Given the description of an element on the screen output the (x, y) to click on. 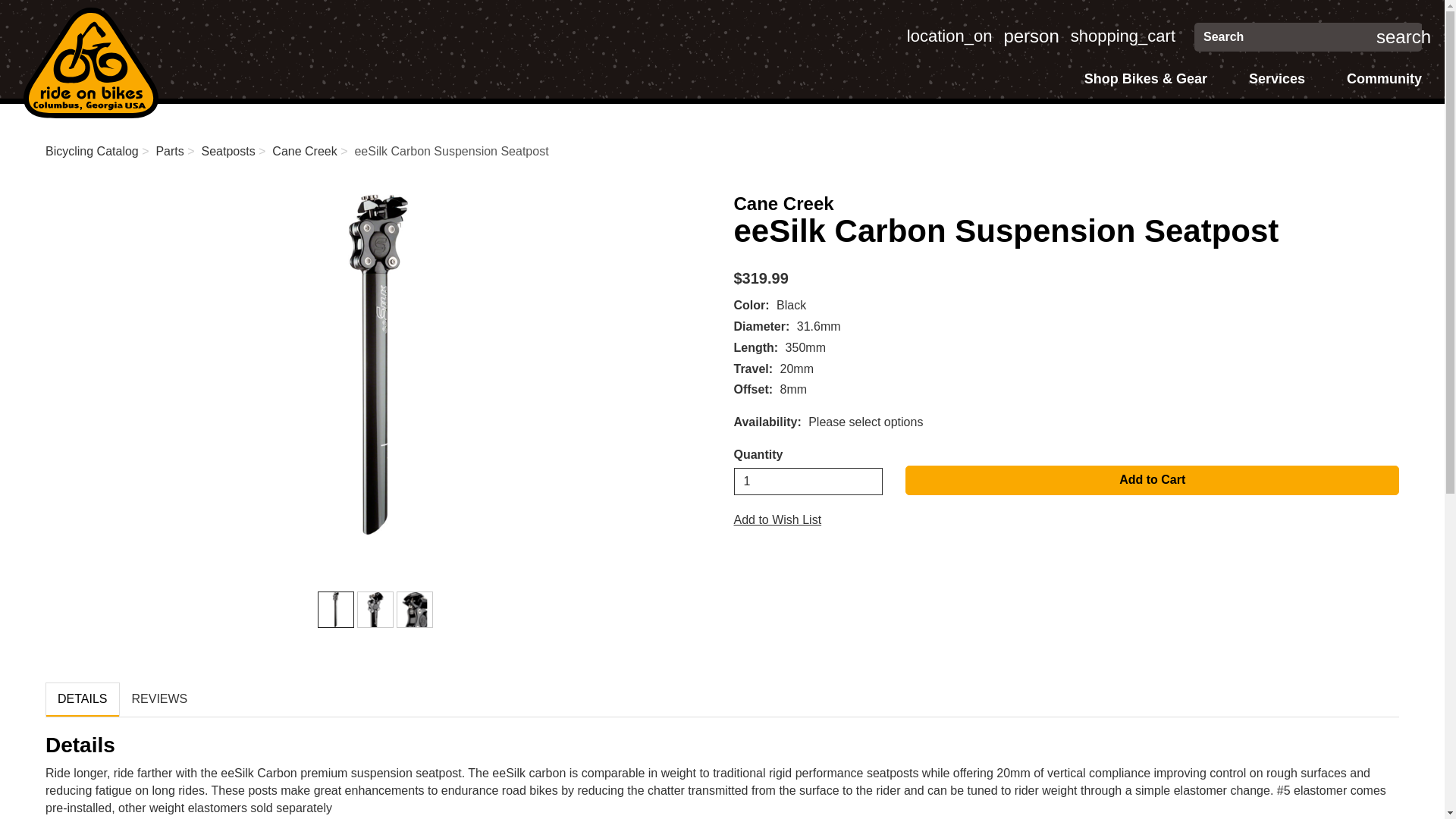
Cane Creek eeSilk Carbon Suspension Seatpost (378, 364)
Cart (1122, 35)
Search (949, 35)
Account (1030, 35)
Store (1289, 36)
Color: Black (1122, 35)
Search (1030, 35)
RideOn Bikes Home Page (949, 35)
1 (335, 609)
